Given the description of an element on the screen output the (x, y) to click on. 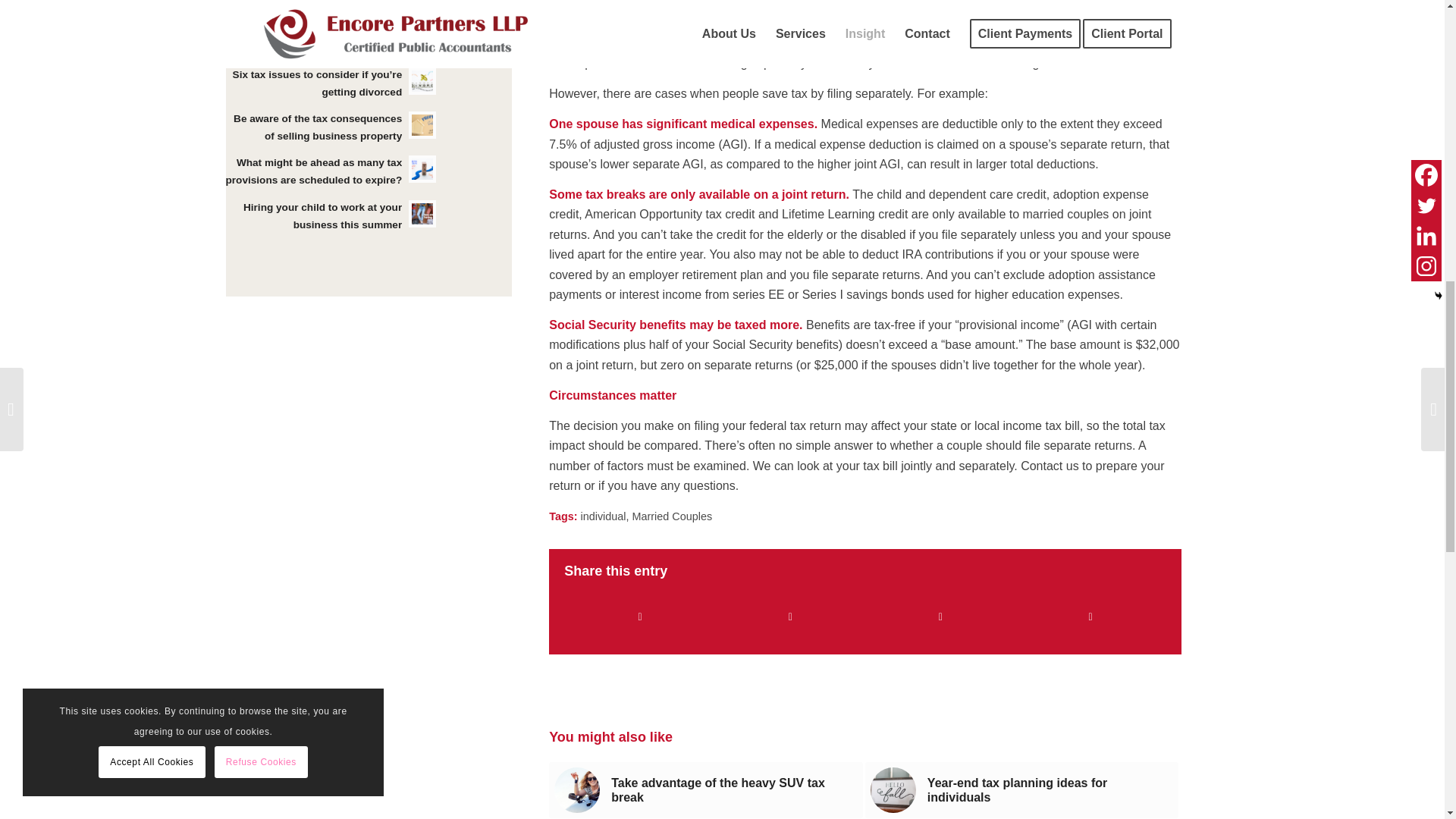
Year-end tax planning ideas for individuals (1021, 790)
individual (603, 516)
Married Couples (672, 516)
Heavy Vehicle exemptions (576, 790)
Fall (892, 790)
Year-end tax planning ideas for individuals (1021, 790)
Take advantage of the heavy SUV tax break (705, 790)
Take advantage of the heavy SUV tax break (705, 790)
